Given the description of an element on the screen output the (x, y) to click on. 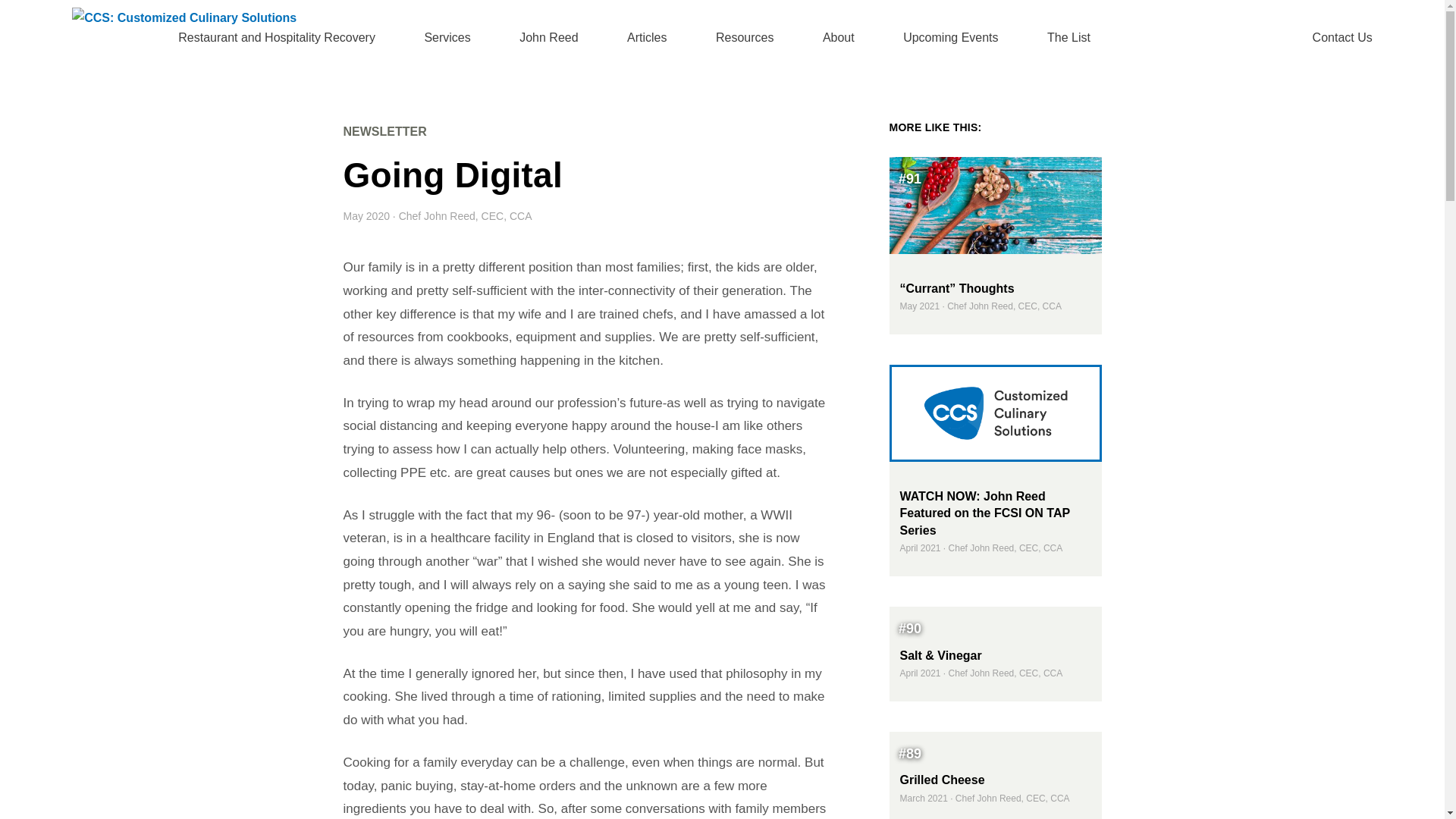
Restaurant and Hospitality Recovery (276, 38)
Upcoming Events (949, 38)
NEWSLETTER (384, 131)
